Given the description of an element on the screen output the (x, y) to click on. 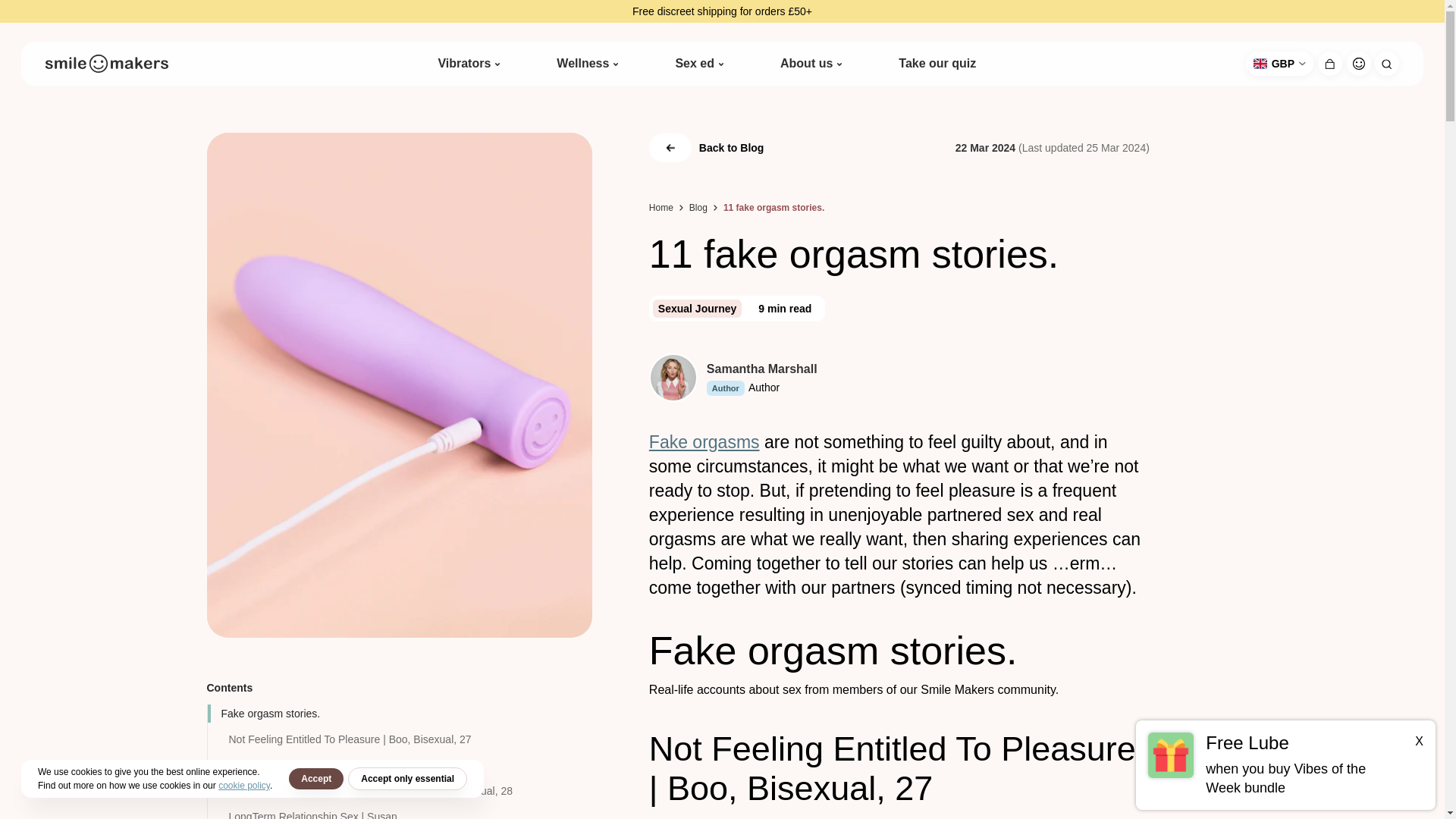
Vibrators (464, 63)
Open Wellness menu (614, 63)
Open Sex ed menu (721, 63)
Sex ed (694, 63)
Open Vibrators menu (497, 63)
Wellness (582, 63)
